Given the description of an element on the screen output the (x, y) to click on. 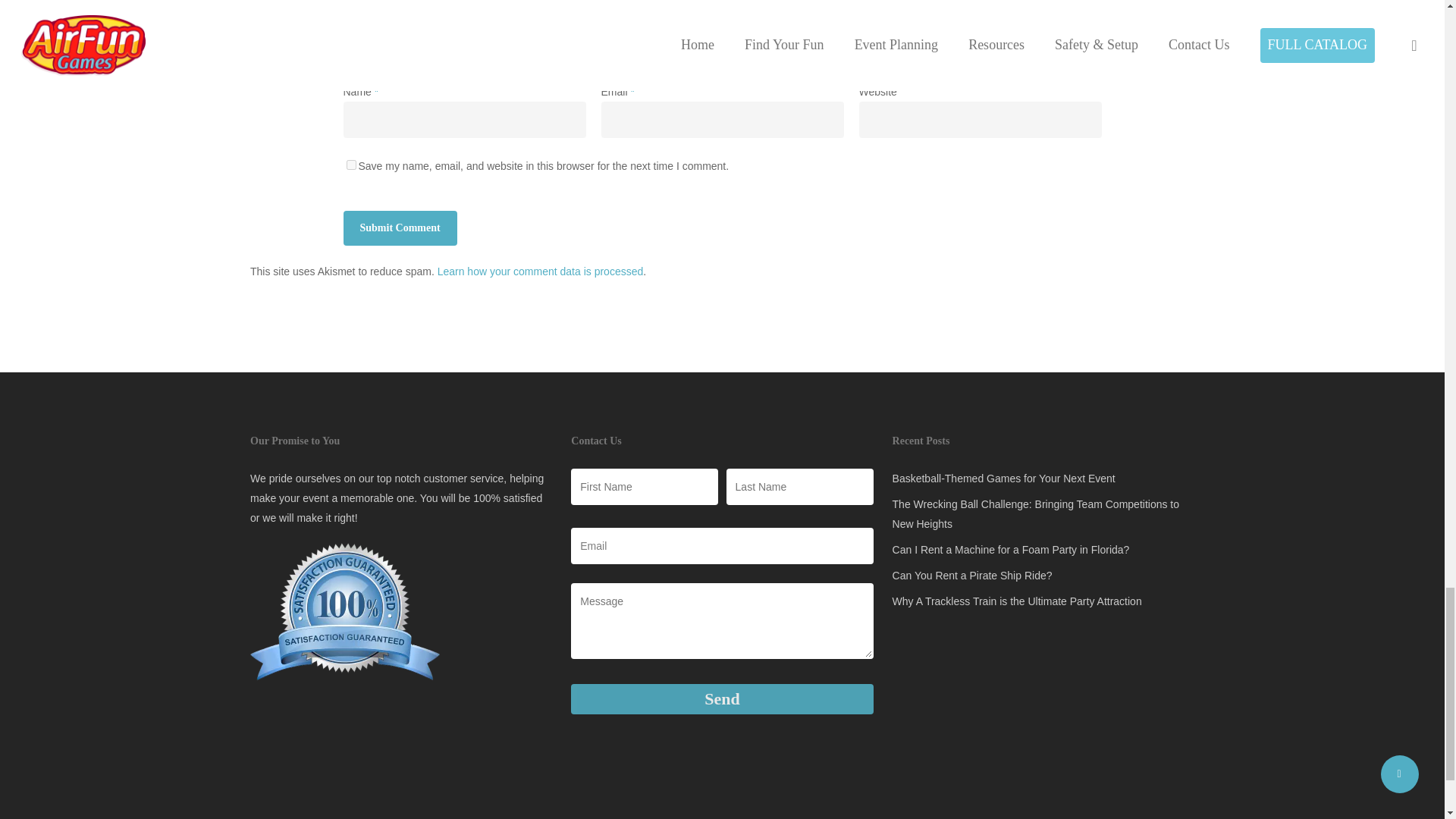
Email (721, 545)
yes (350, 164)
Send (721, 698)
Submit Comment (399, 227)
